Given the description of an element on the screen output the (x, y) to click on. 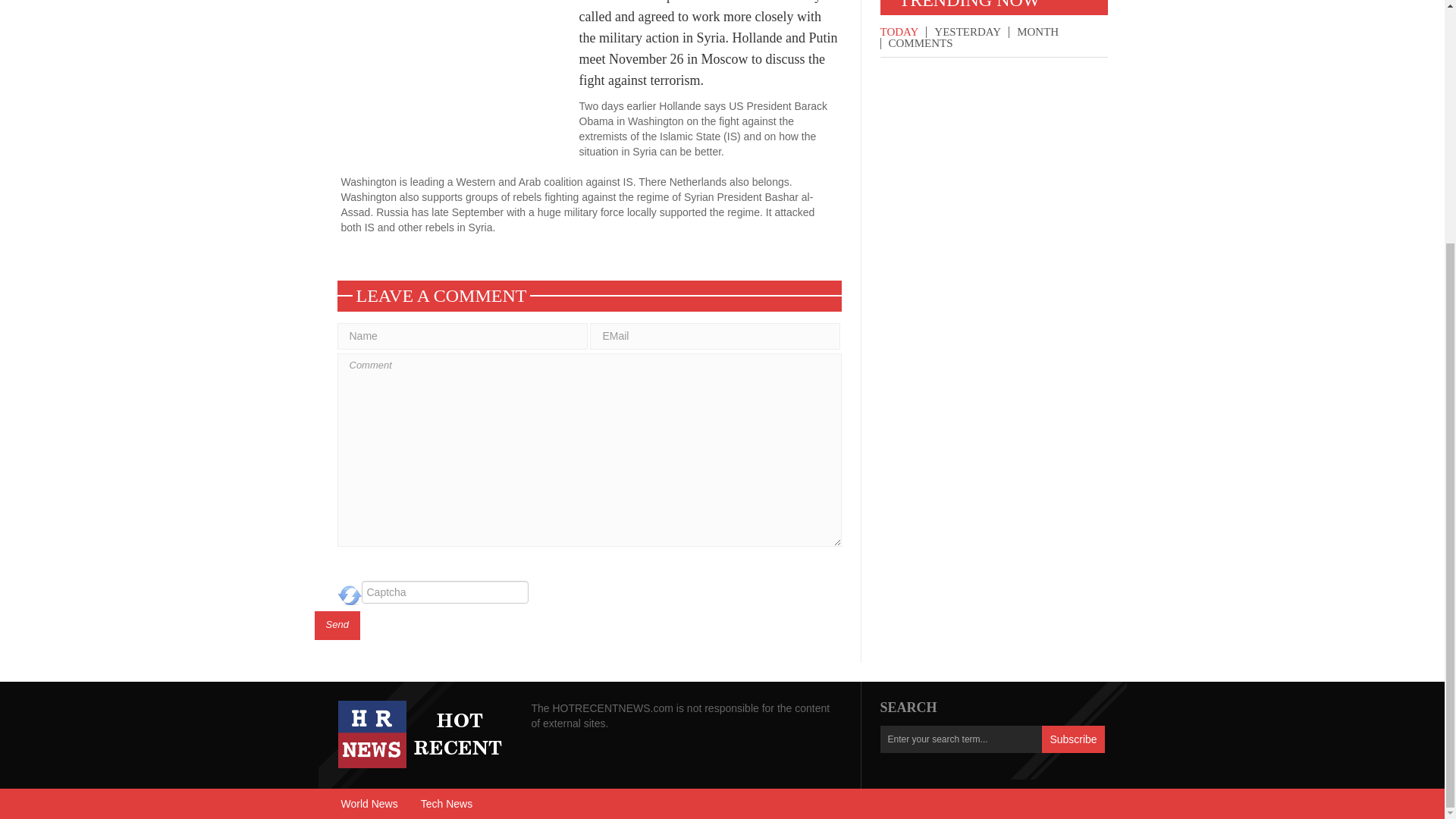
Send (336, 624)
Subscribe (1072, 738)
Enter your search term... (960, 738)
Advertisement (459, 79)
Send (336, 624)
